Given the description of an element on the screen output the (x, y) to click on. 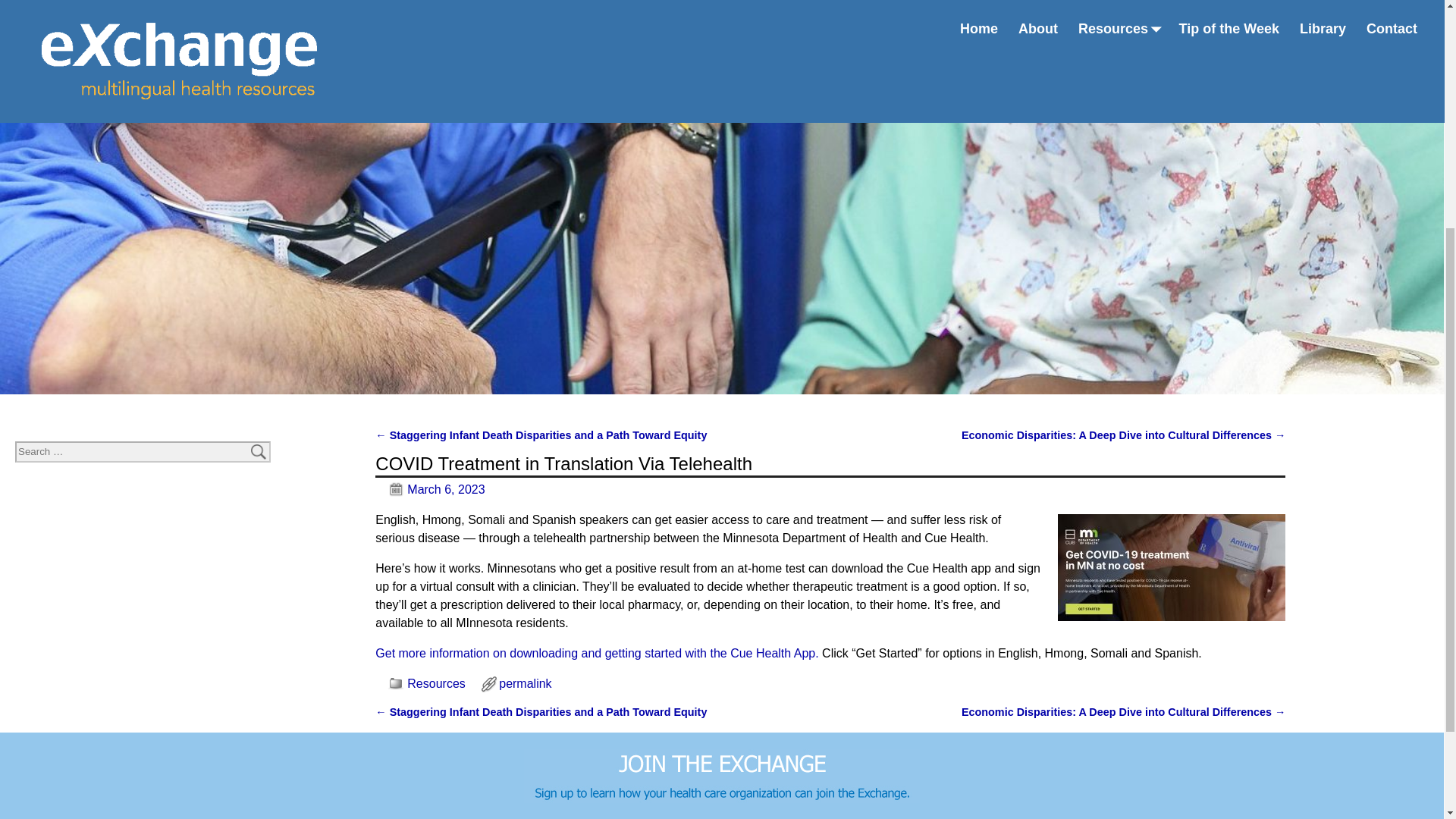
Resources (435, 683)
March 6, 2023 (429, 489)
Permalink to COVID Treatment in Translation Via Telehealth (525, 683)
permalink (525, 683)
3:06 am (429, 489)
Search for: (142, 451)
